Given the description of an element on the screen output the (x, y) to click on. 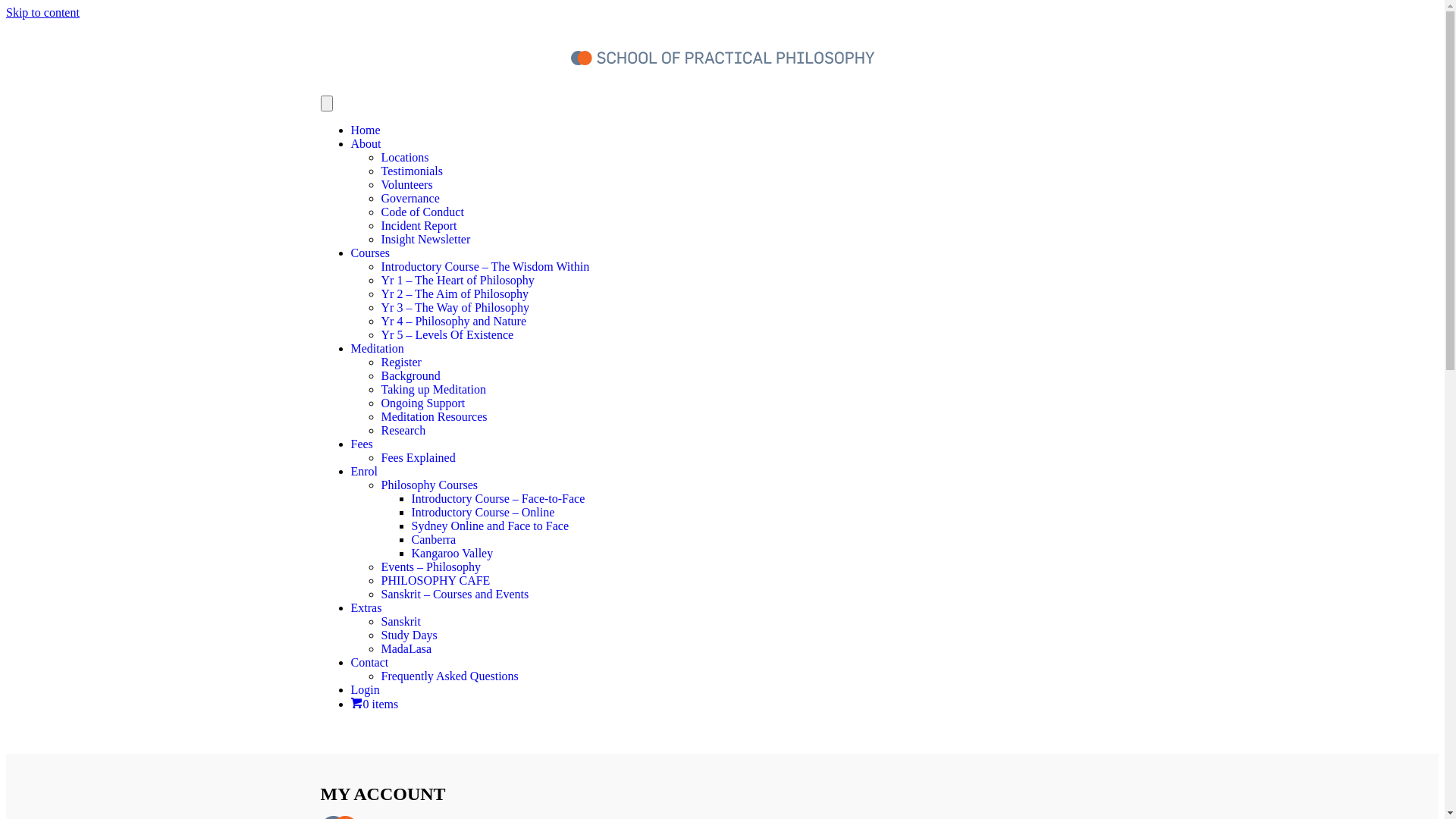
Governance Element type: text (409, 197)
Home Element type: text (364, 129)
Register Element type: text (400, 361)
Taking up Meditation Element type: text (432, 388)
Fees Explained Element type: text (417, 457)
School of Practical Philosophy Element type: hover (721, 57)
Background Element type: text (409, 375)
Contact Element type: text (369, 661)
Locations Element type: text (404, 156)
Sydney Online and Face to Face Element type: text (489, 525)
Frequently Asked Questions Element type: text (448, 675)
PHILOSOPHY CAFE Element type: text (434, 580)
Incident Report Element type: text (418, 225)
Sanskrit Element type: text (400, 621)
Volunteers Element type: text (406, 184)
Extras Element type: text (365, 607)
Meditation Resources Element type: text (433, 416)
Ongoing Support Element type: text (422, 402)
About Element type: text (365, 143)
Login Element type: text (364, 689)
Study Days Element type: text (408, 634)
Insight Newsletter Element type: text (425, 238)
MadaLasa Element type: text (405, 648)
0 items Element type: text (374, 703)
Enrol Element type: text (363, 470)
Courses Element type: text (369, 252)
Kangaroo Valley Element type: text (451, 552)
Research Element type: text (402, 429)
Skip to content Element type: text (42, 12)
Philosophy Courses Element type: text (428, 484)
Testimonials Element type: text (411, 170)
Fees Element type: text (361, 443)
Canberra Element type: text (433, 539)
Meditation Element type: text (376, 348)
Code of Conduct Element type: text (421, 211)
